Given the description of an element on the screen output the (x, y) to click on. 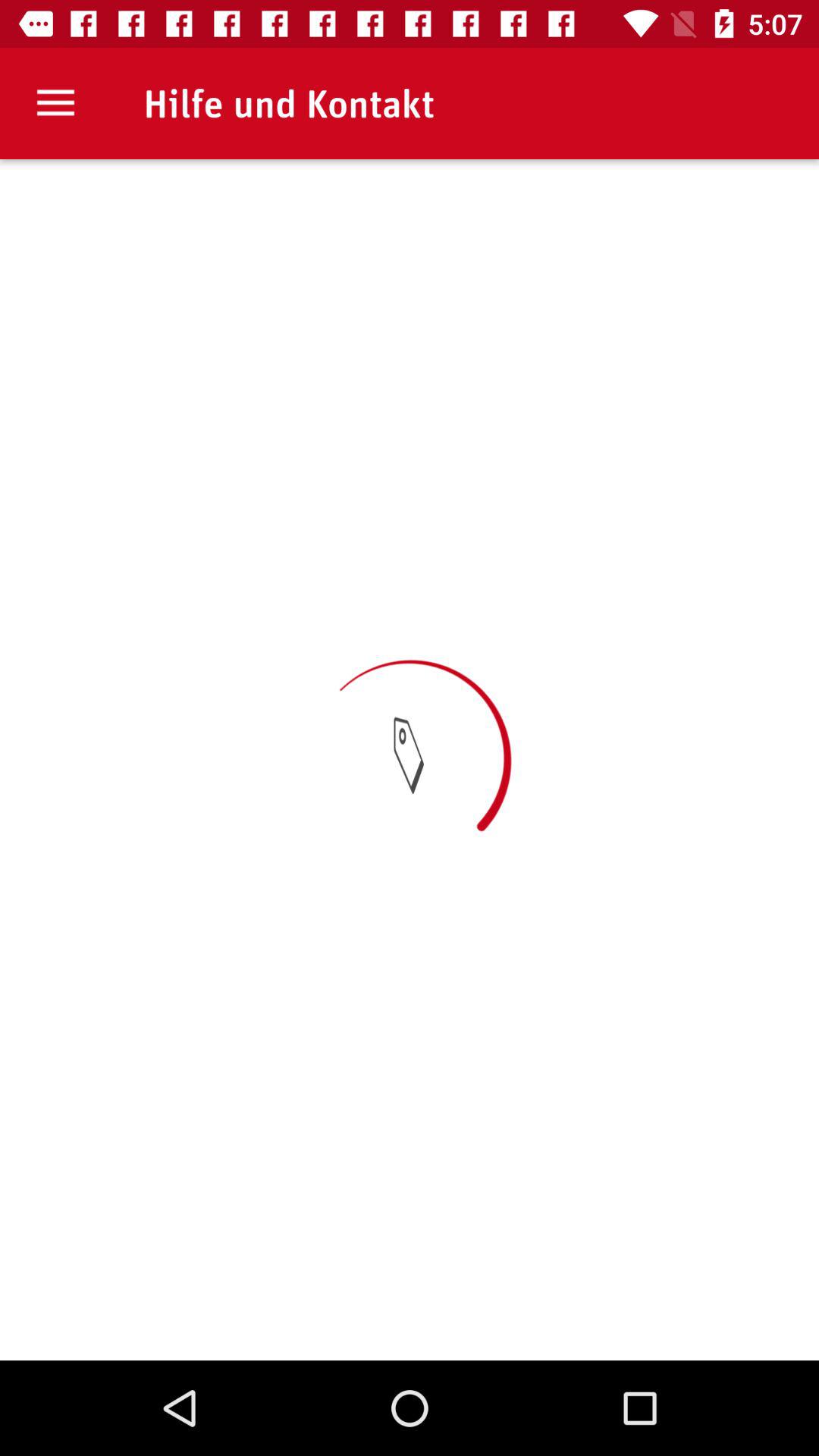
select item next to hilfe und kontakt (55, 103)
